Given the description of an element on the screen output the (x, y) to click on. 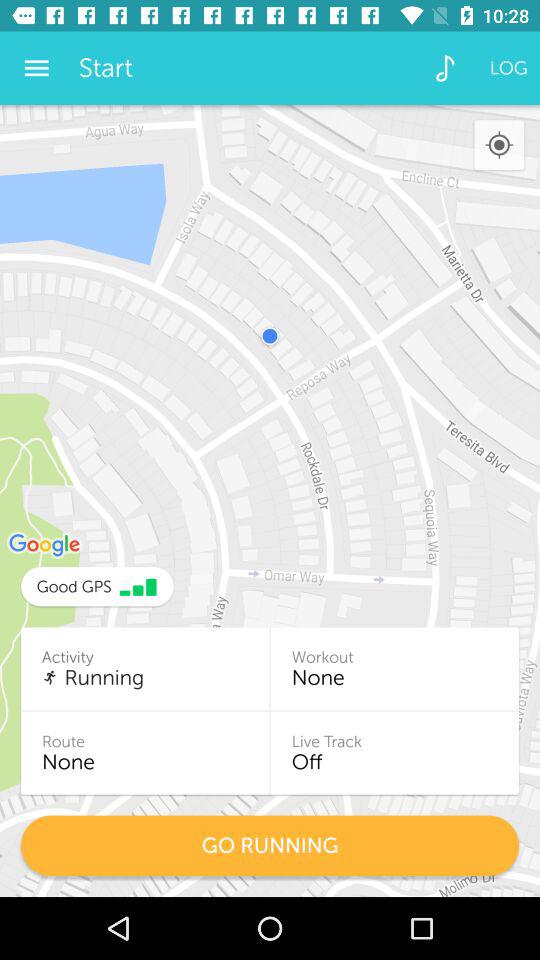
scroll to go running (270, 845)
